Given the description of an element on the screen output the (x, y) to click on. 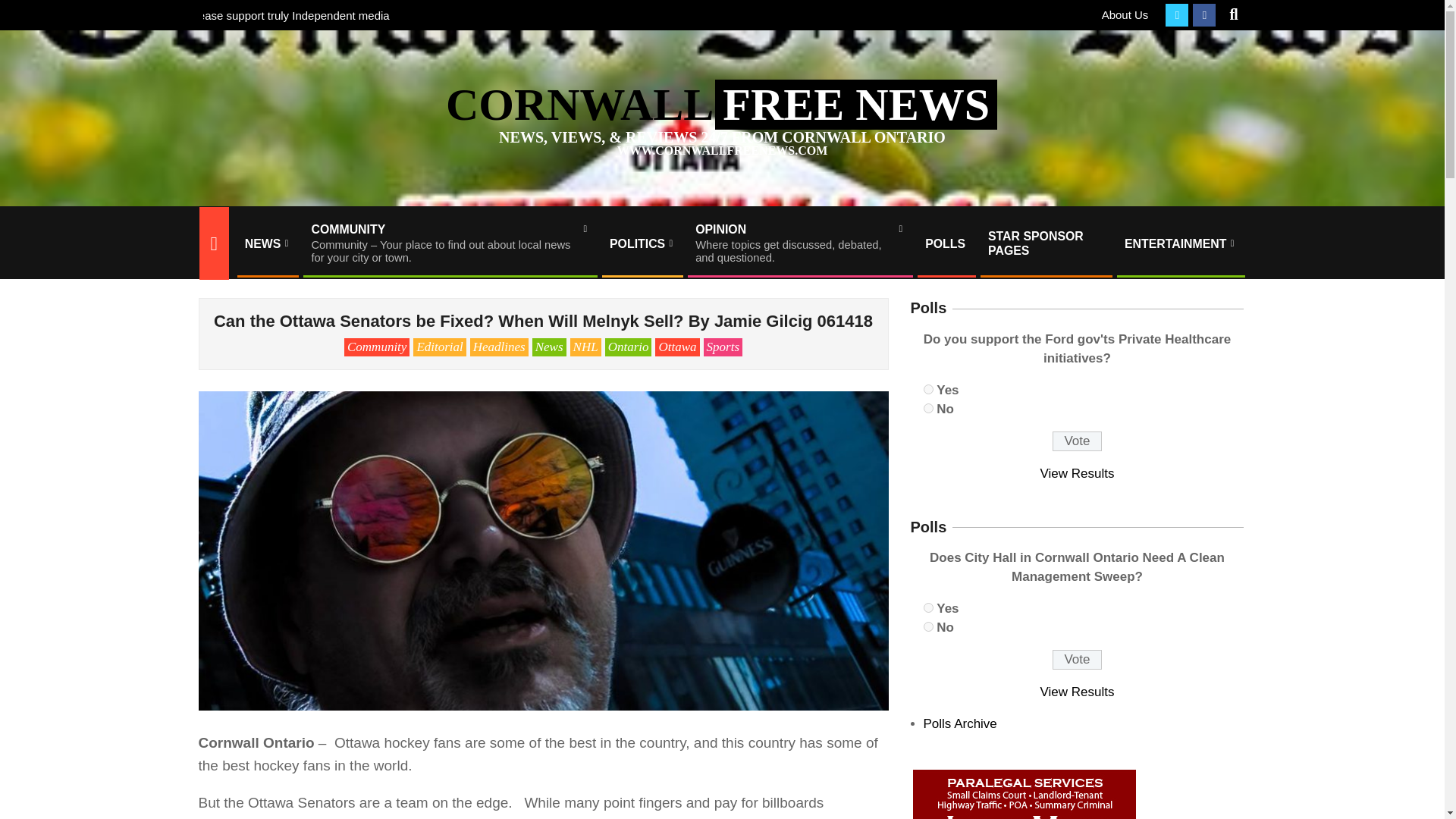
View Results Of This Poll (1078, 691)
1771 (928, 626)
1770 (928, 607)
ENTERTAINMENT (1179, 243)
   Vote    (1076, 659)
View Results Of This Poll (1078, 473)
NEWS (265, 243)
About Us (799, 243)
1777 (1125, 14)
